Given the description of an element on the screen output the (x, y) to click on. 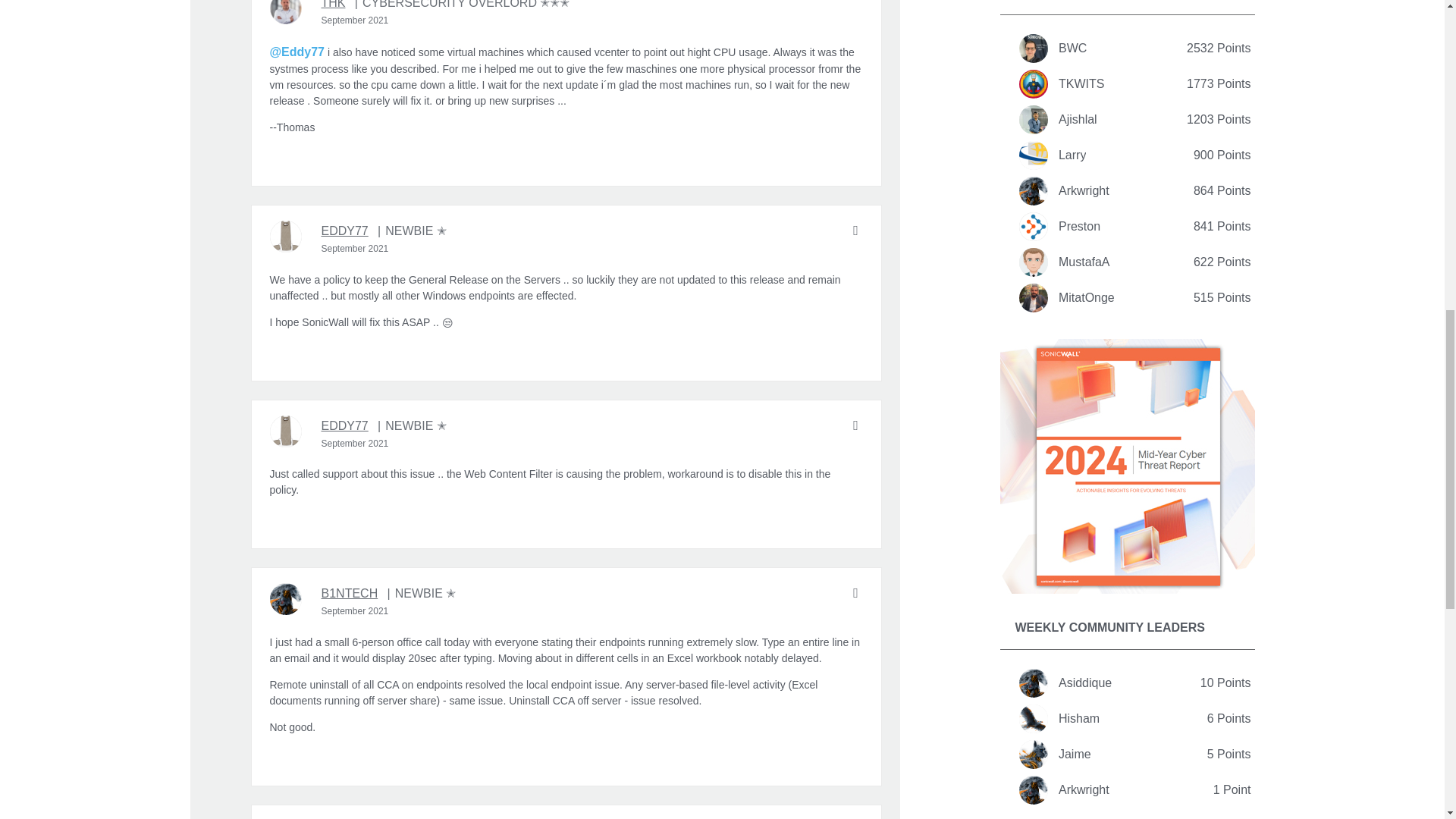
September 2021 (354, 20)
THK (333, 6)
September 2021 (354, 248)
Eddy77 (285, 236)
EDDY77 (344, 425)
Newbie (411, 230)
Newbie (411, 425)
September 15 2021 01:58pm (354, 443)
Cyber Security Overlord (462, 6)
B1NTECH (349, 593)
ThK (285, 12)
Eddy77 (285, 431)
September 21 2021 03:54pm (354, 611)
EDDY77 (344, 230)
Newbie (421, 593)
